Given the description of an element on the screen output the (x, y) to click on. 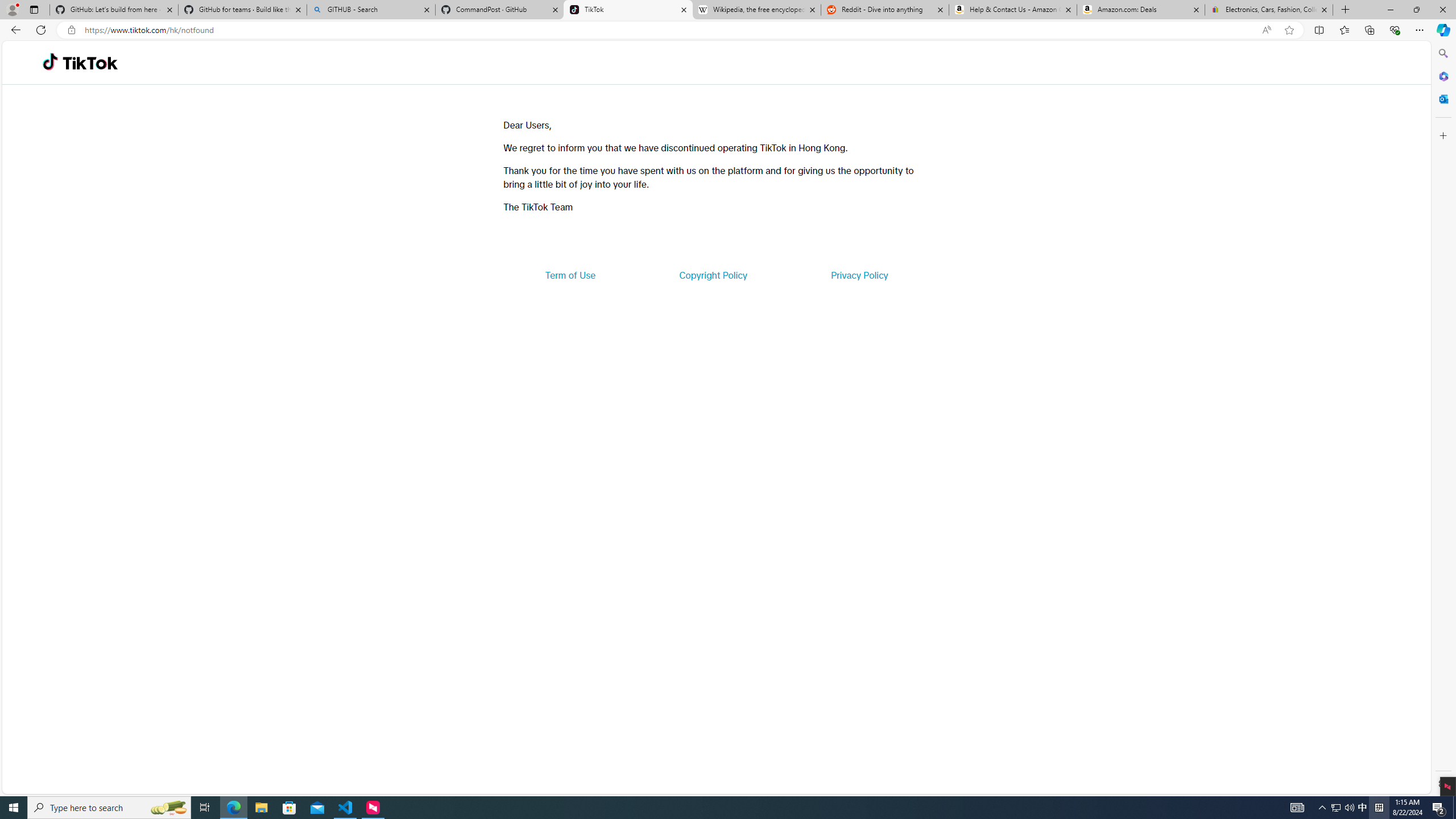
Term of Use (569, 274)
Wikipedia, the free encyclopedia (756, 9)
